Given the description of an element on the screen output the (x, y) to click on. 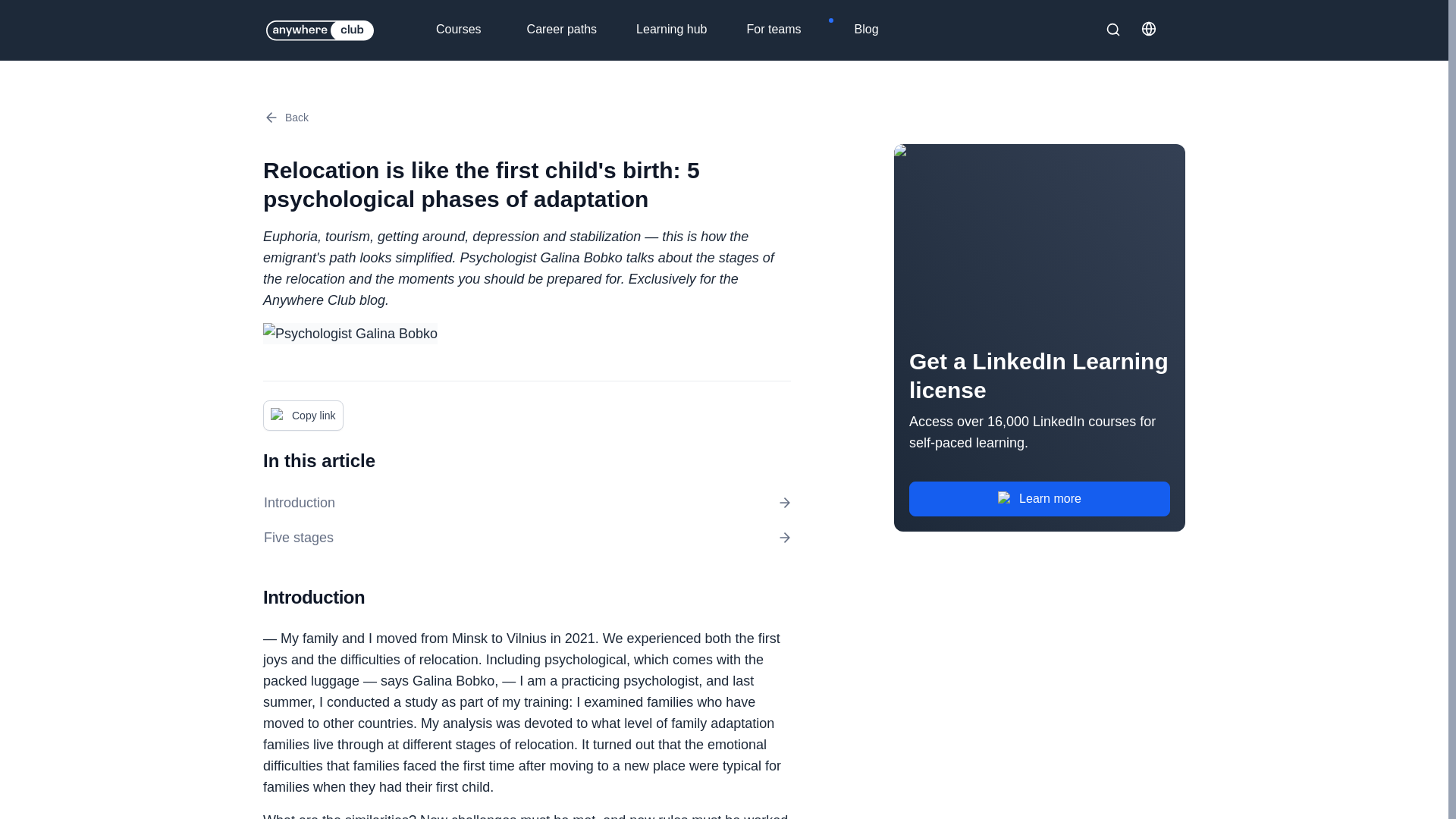
Five stages (526, 537)
Back (285, 117)
For teams (790, 30)
Learning hub (681, 30)
Copy link (303, 415)
Career paths (572, 30)
Courses (476, 30)
Introduction (526, 502)
Blog (876, 30)
Learn more (1039, 498)
